Given the description of an element on the screen output the (x, y) to click on. 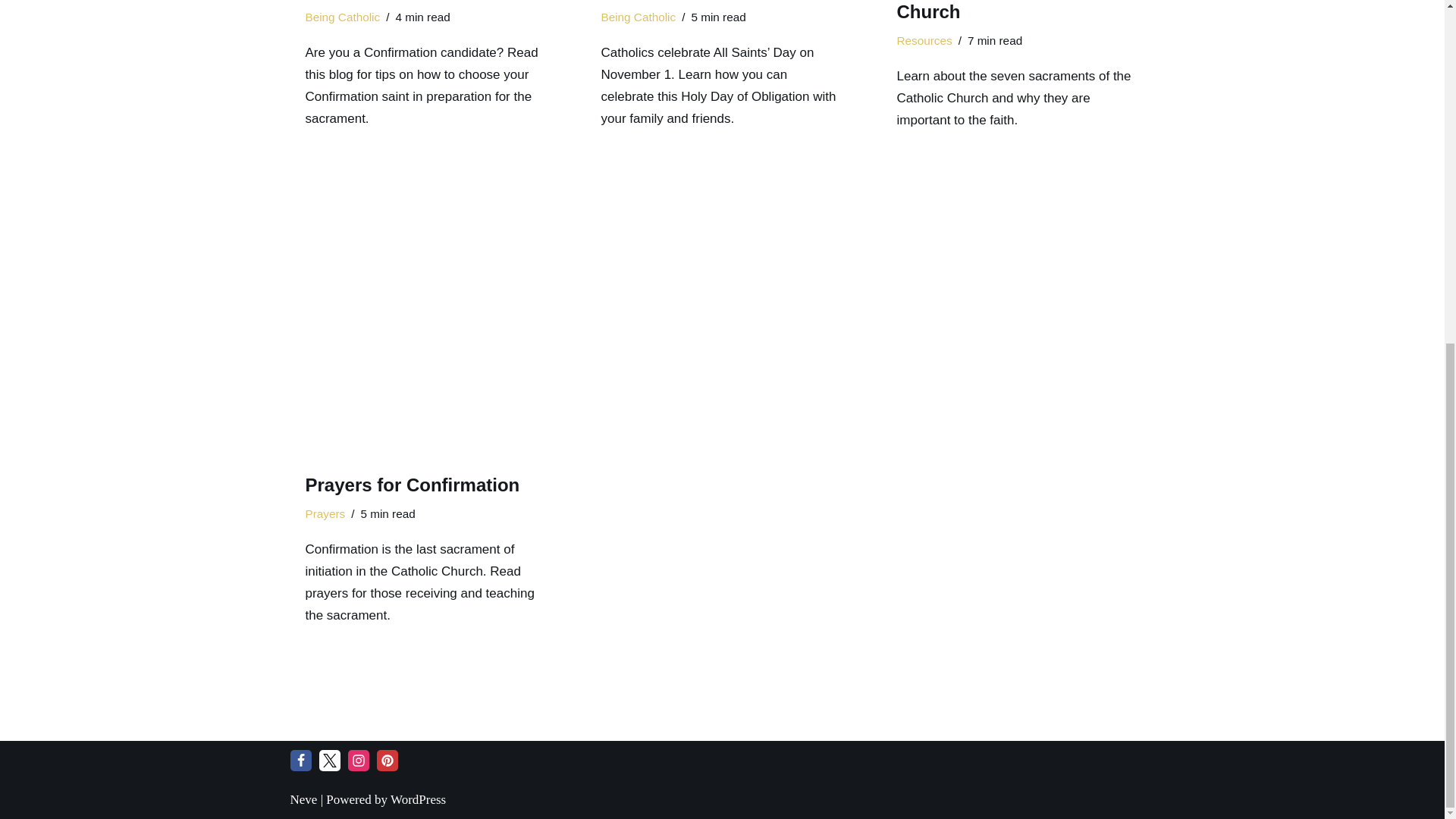
Being Catholic (342, 16)
Prayers for Confirmation (425, 321)
Facebook (300, 760)
Pinterest (386, 760)
Twitter (328, 760)
Instagram (357, 760)
